Given the description of an element on the screen output the (x, y) to click on. 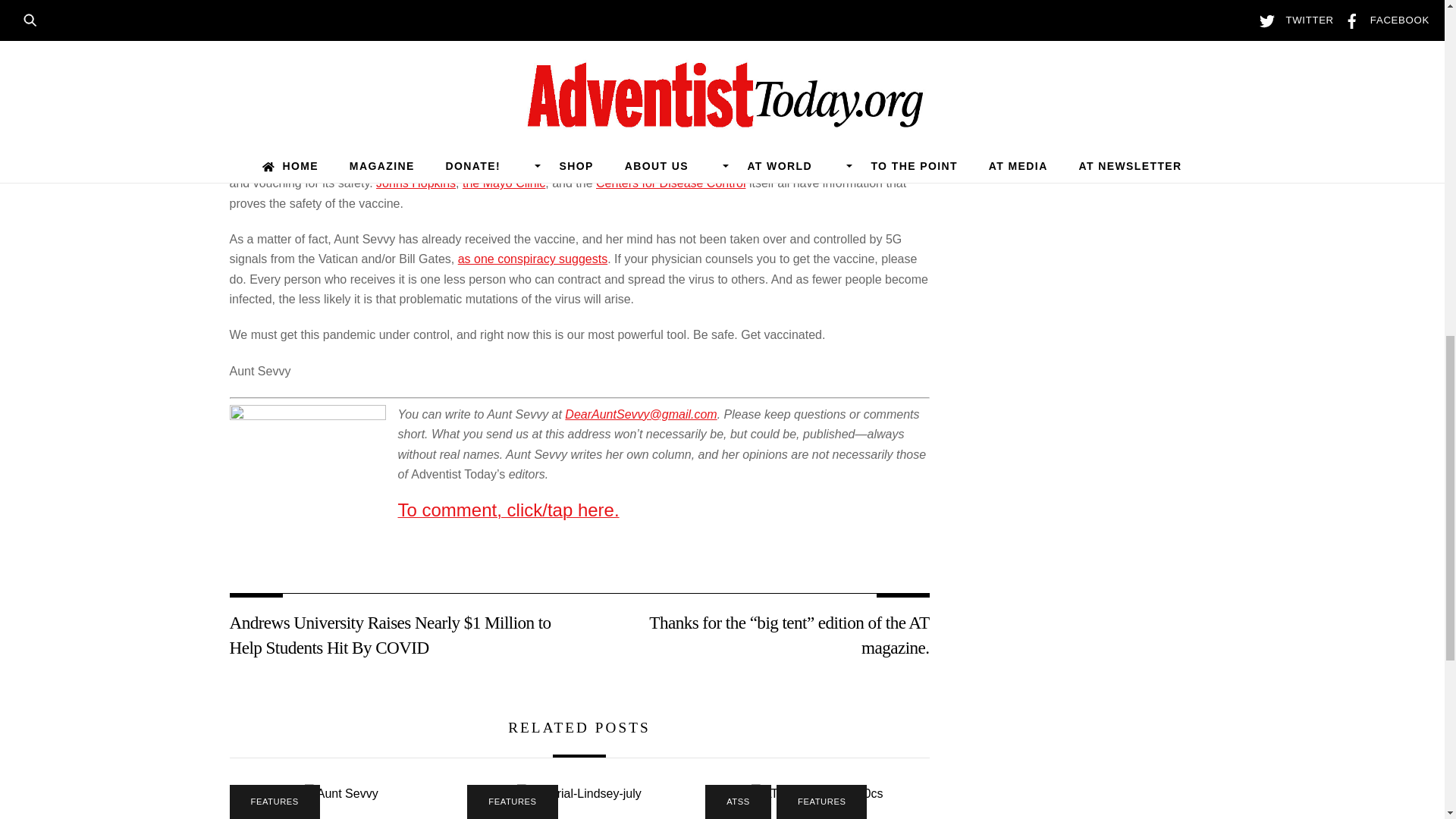
Johns Hopkins (415, 182)
Aunt Sevvy (341, 793)
ATSS-Trenchard-10cs (816, 793)
as one conspiracy suggests (532, 258)
the Mayo Clinic (503, 182)
Editorial-Lindsey-july (579, 793)
Centers for Disease Control (670, 182)
